Given the description of an element on the screen output the (x, y) to click on. 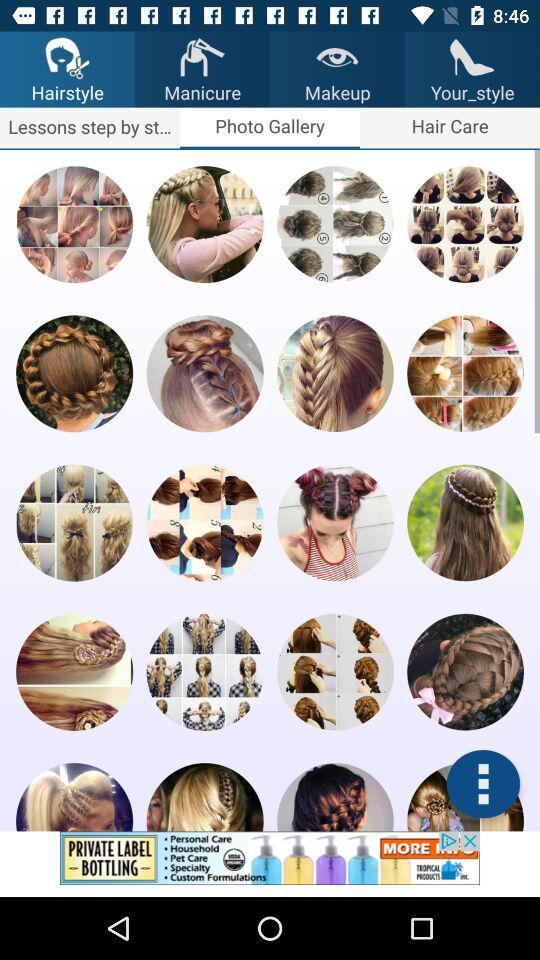
picture option (465, 373)
